Given the description of an element on the screen output the (x, y) to click on. 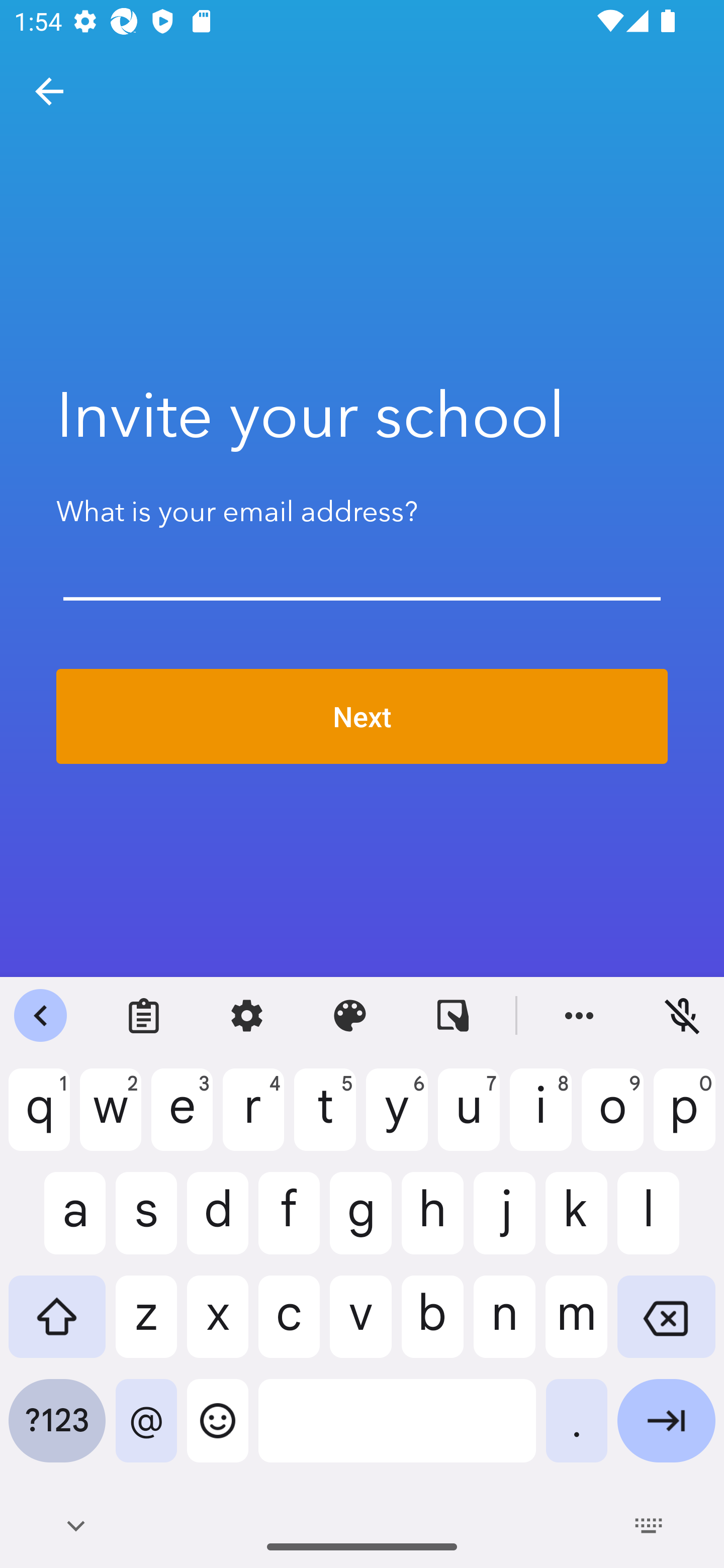
Navigate up (49, 91)
Next (361, 716)
